Given the description of an element on the screen output the (x, y) to click on. 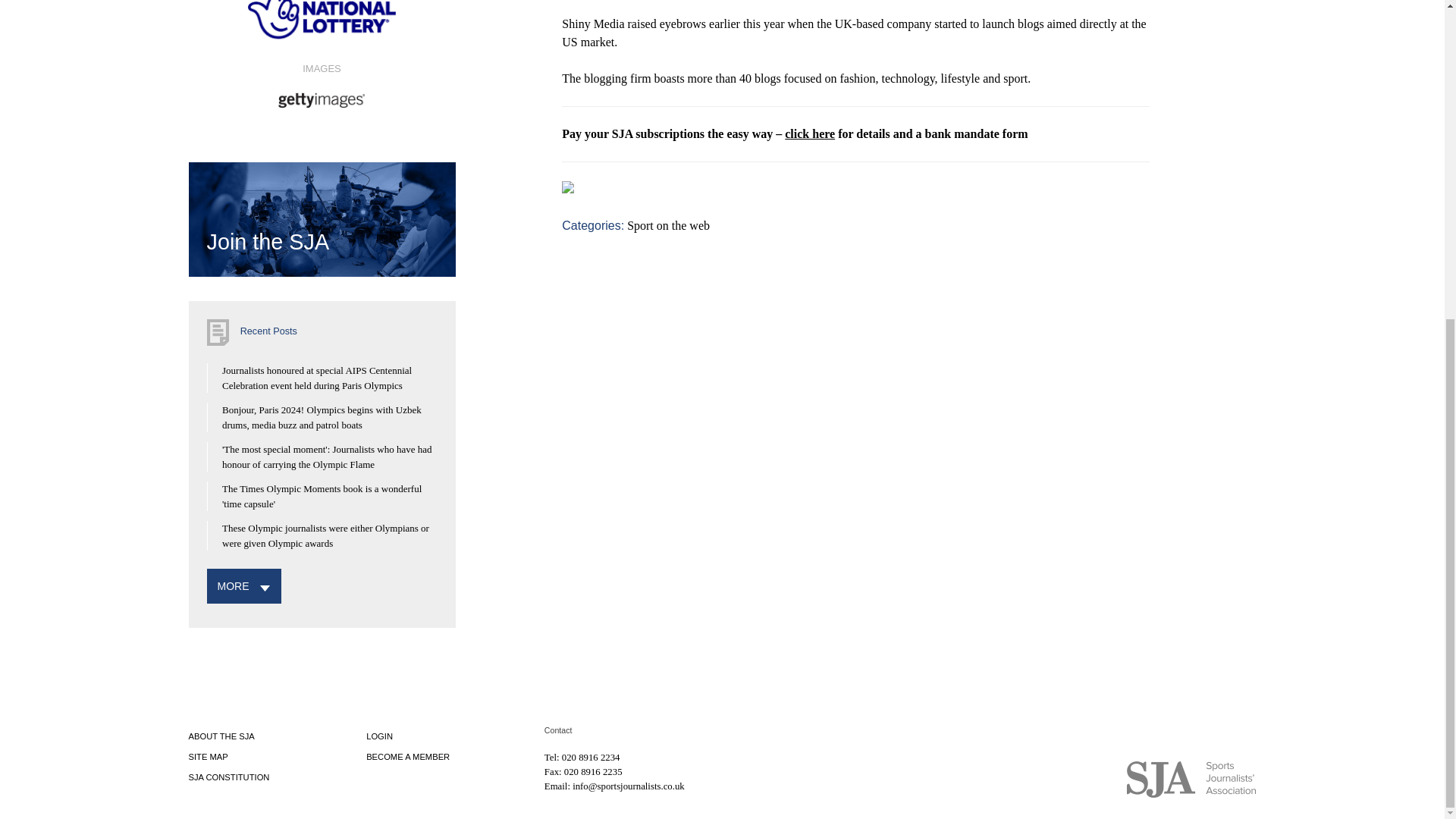
ABOUT THE SJA (220, 736)
MORE (232, 585)
IMAGES (320, 84)
Sport on the web (668, 225)
SITE MAP (207, 756)
LOGIN (379, 736)
View more posts from the archive (232, 585)
SJA CONSTITUTION (228, 777)
SPONSOR (320, 26)
click here (809, 133)
